Given the description of an element on the screen output the (x, y) to click on. 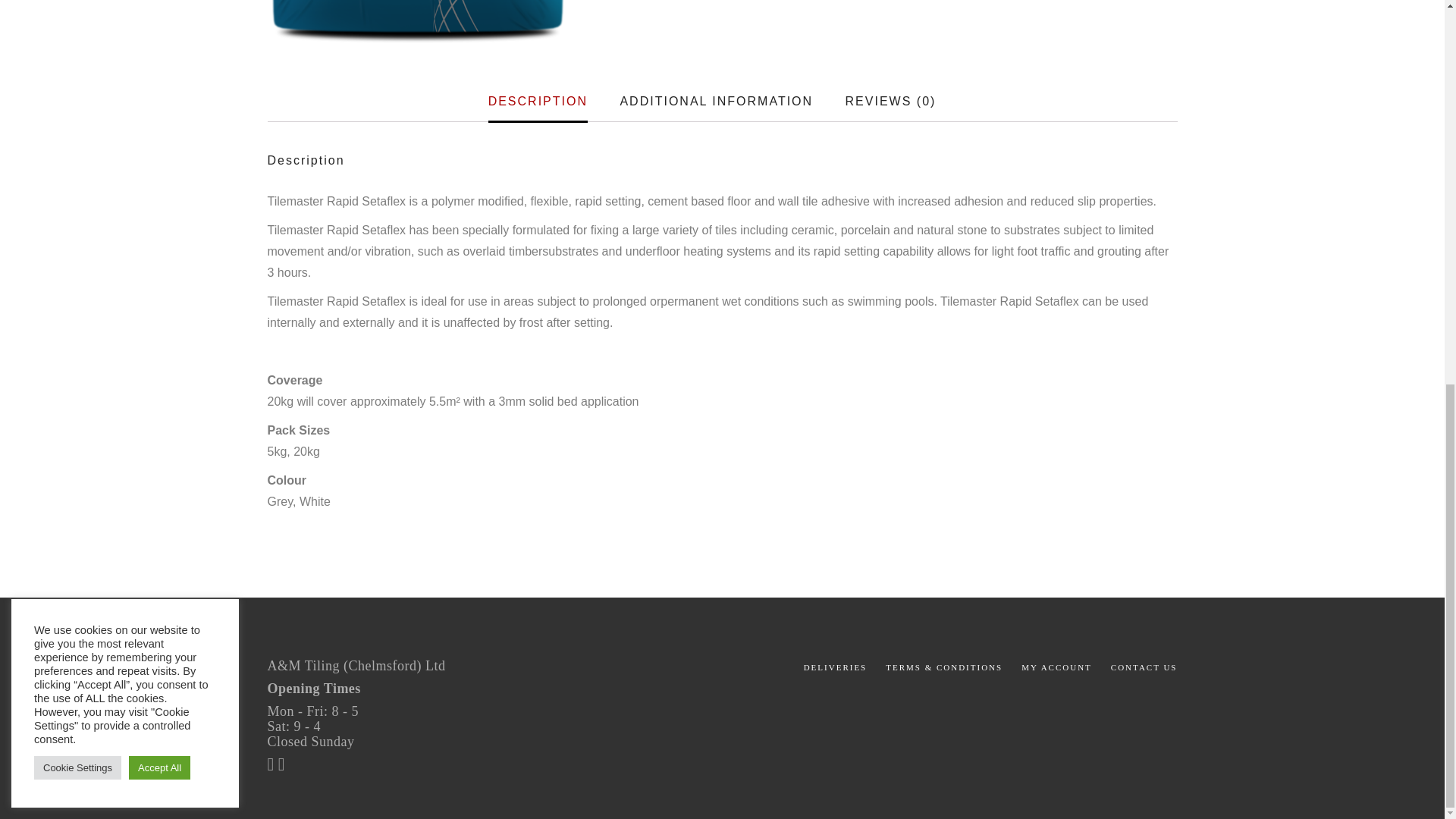
DELIVERIES (835, 666)
ADDITIONAL INFORMATION (716, 101)
Cookie Settings (76, 44)
DESCRIPTION (537, 101)
RapidSetaflexGrey-Bag-Image.png (416, 22)
Accept All (159, 44)
MY ACCOUNT (1057, 666)
CONTACT US (1143, 666)
